Given the description of an element on the screen output the (x, y) to click on. 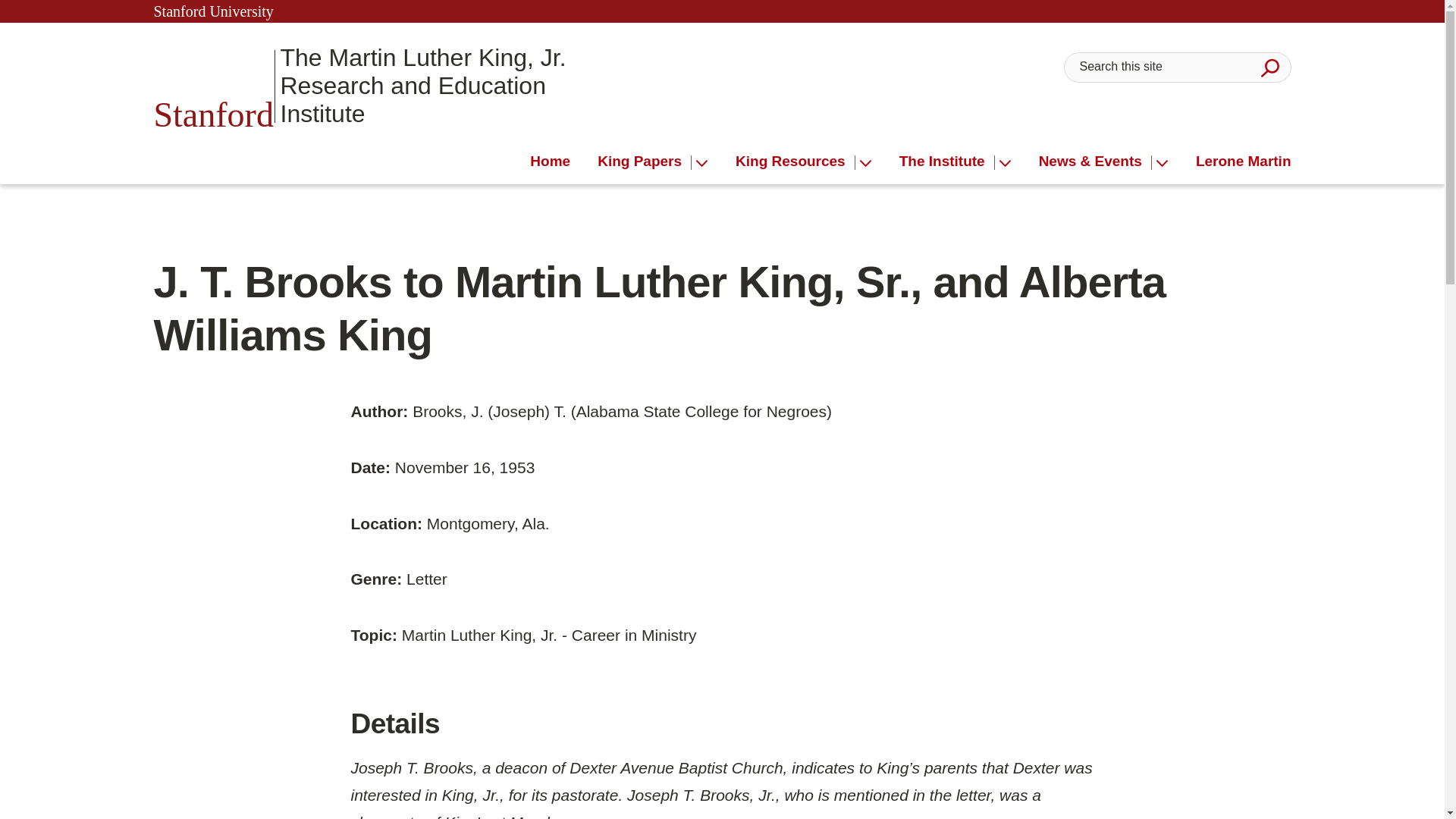
Submit Search (1269, 67)
King Papers (643, 161)
Home (549, 161)
King Resources (795, 161)
